Given the description of an element on the screen output the (x, y) to click on. 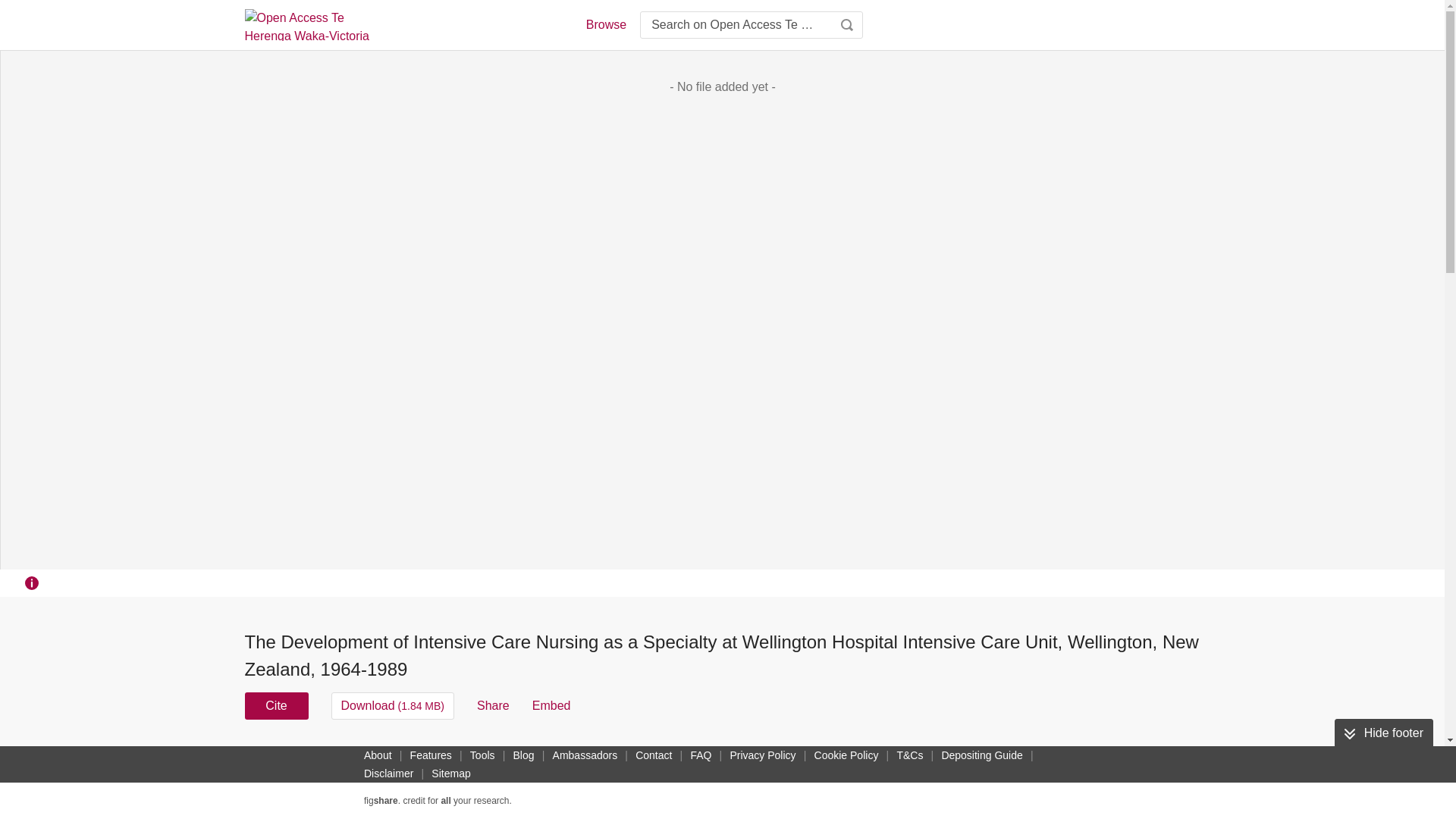
Embed (551, 705)
Tools (482, 755)
About (377, 755)
Ambassadors (585, 755)
Features (431, 755)
Hide footer (1383, 733)
Browse (605, 24)
Share (493, 705)
USAGE METRICS (976, 759)
Cite (275, 705)
